Given the description of an element on the screen output the (x, y) to click on. 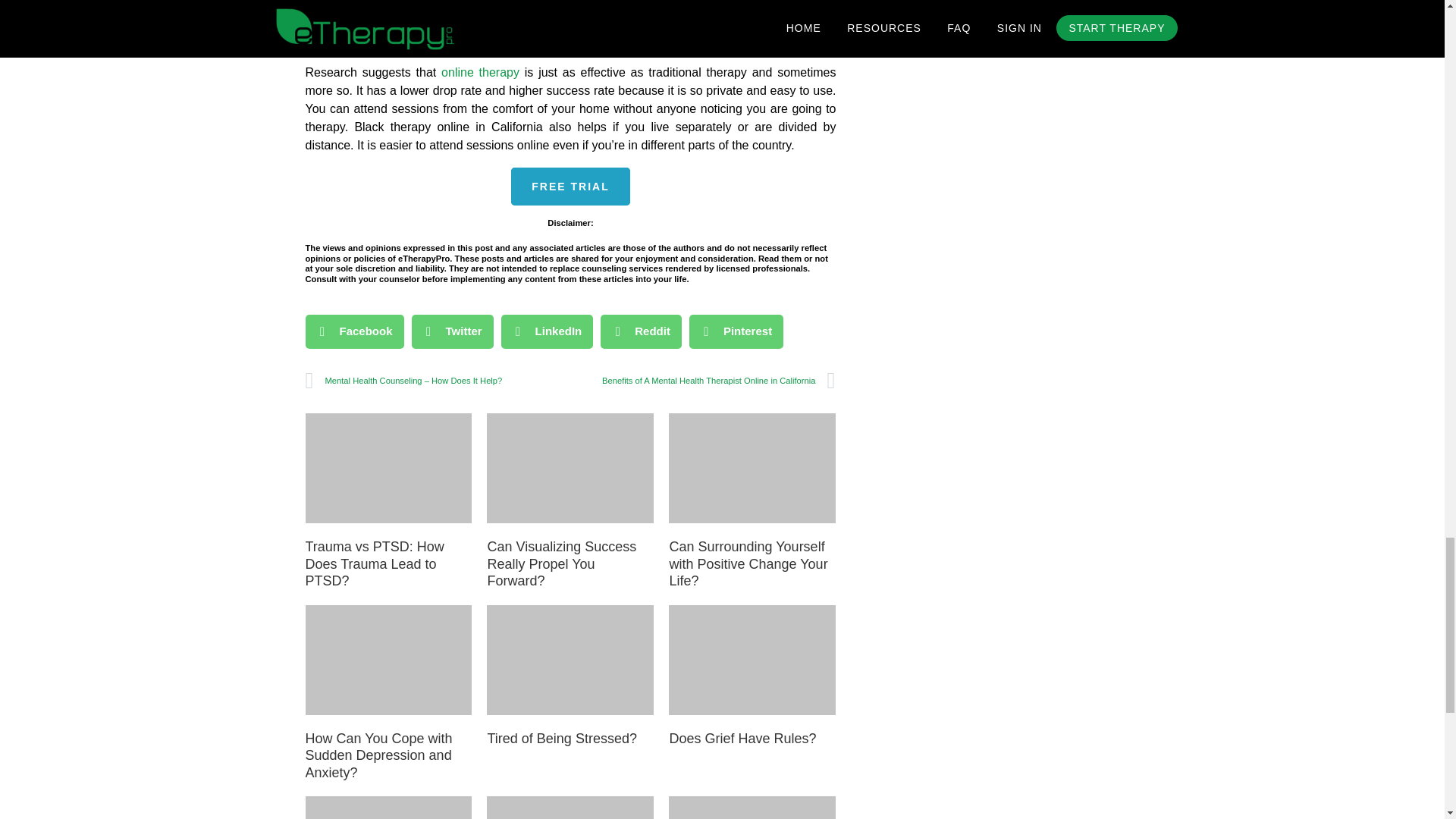
Benefits of A Mental Health Therapist Online in California (702, 380)
online therapy (480, 72)
FREE TRIAL (569, 186)
Can Visualizing Success Really Propel You Forward? (561, 563)
Can Surrounding Yourself with Positive Change Your Life? (747, 563)
Trauma vs PTSD: How Does Trauma Lead to PTSD? (374, 563)
Tired of Being Stressed? (561, 738)
Does Grief Have Rules? (741, 738)
How Can You Cope with Sudden Depression and Anxiety? (377, 755)
